Given the description of an element on the screen output the (x, y) to click on. 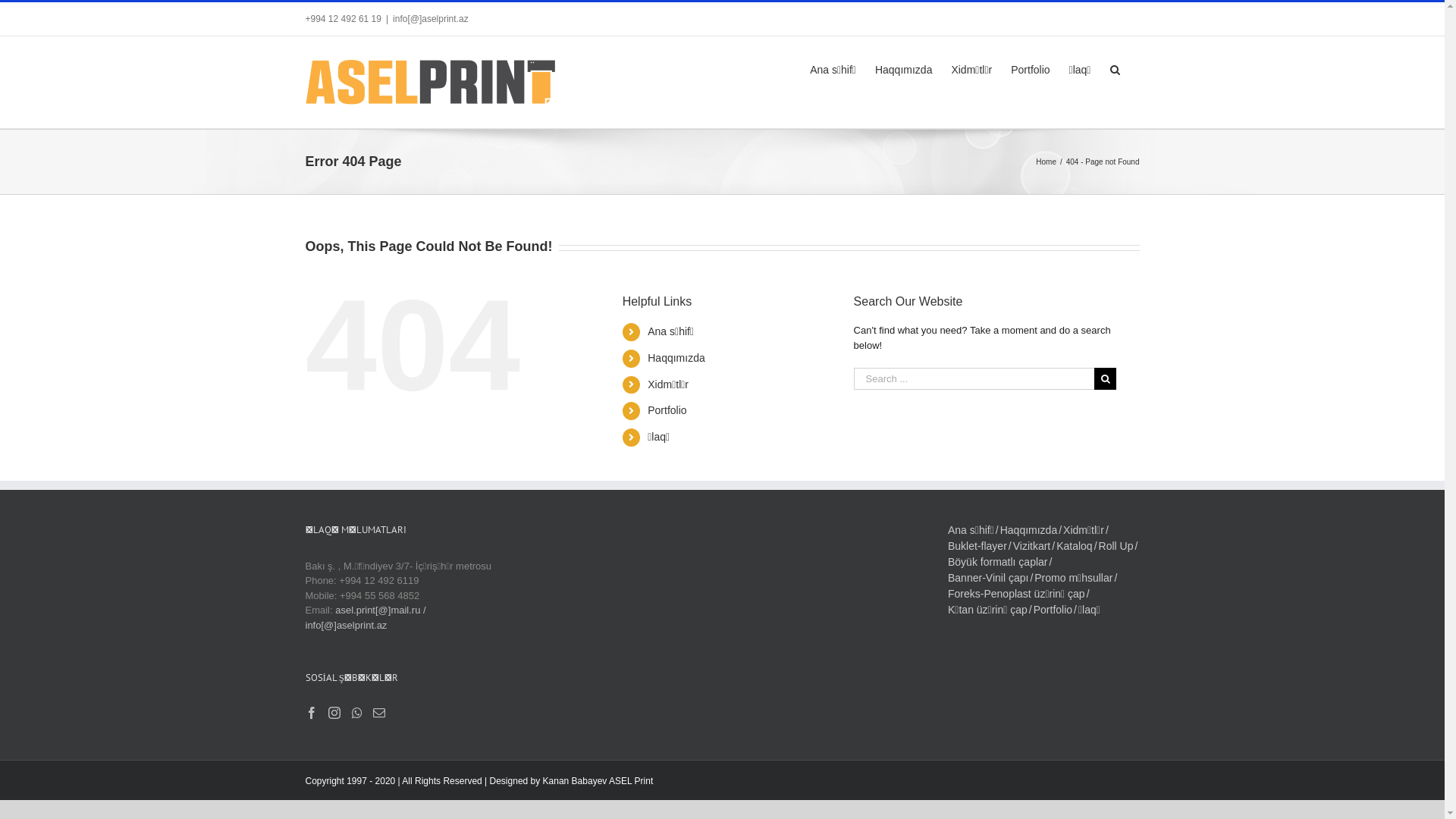
Buklet-flayer Element type: text (980, 546)
Portfolio Element type: text (1055, 610)
Kanan Babayev Element type: text (574, 780)
Portfolio Element type: text (666, 410)
Search Element type: hover (1115, 68)
Roll Up Element type: text (1118, 546)
Home Element type: text (1045, 161)
asel.print[@]mail.ru / info[@]aselprint.az Element type: text (364, 617)
Vizitkart Element type: text (1034, 546)
Kataloq Element type: text (1077, 546)
info[@]aselprint.az Element type: text (430, 18)
Portfolio Element type: text (1029, 68)
